Given the description of an element on the screen output the (x, y) to click on. 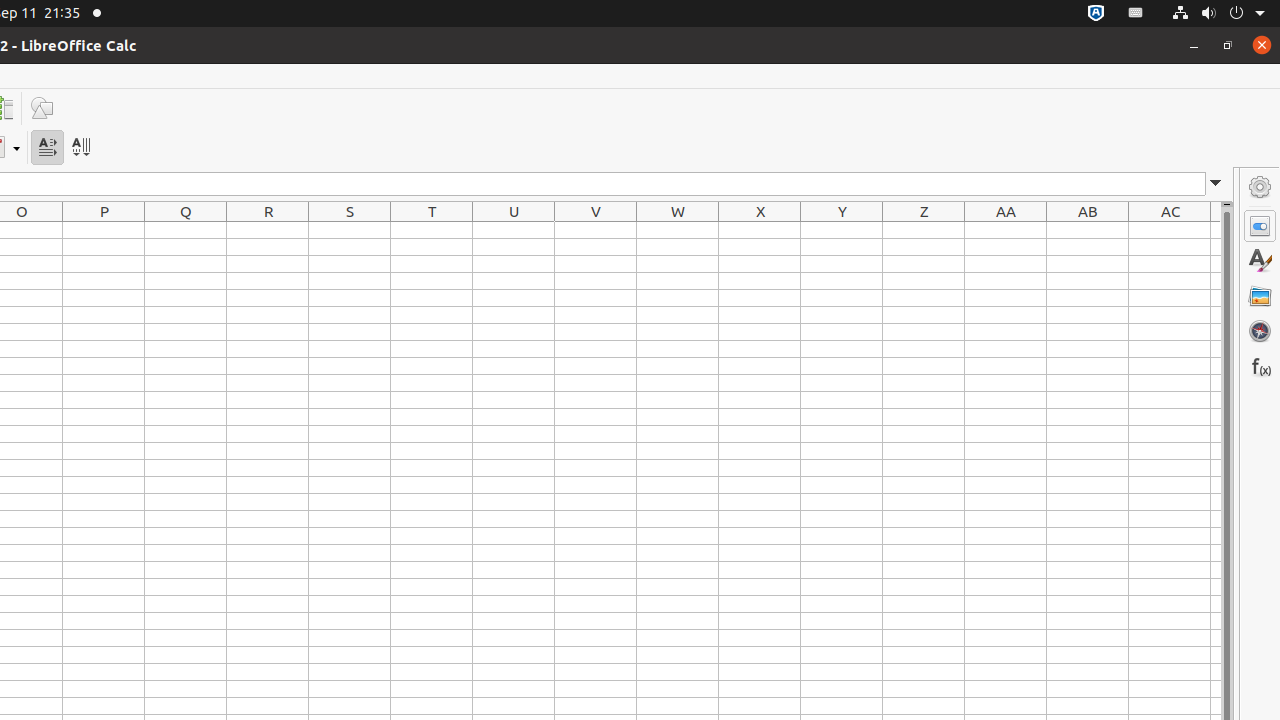
W1 Element type: table-cell (678, 230)
Navigator Element type: radio-button (1260, 331)
Text direction from top to bottom Element type: toggle-button (80, 147)
AA1 Element type: table-cell (1006, 230)
